Given the description of an element on the screen output the (x, y) to click on. 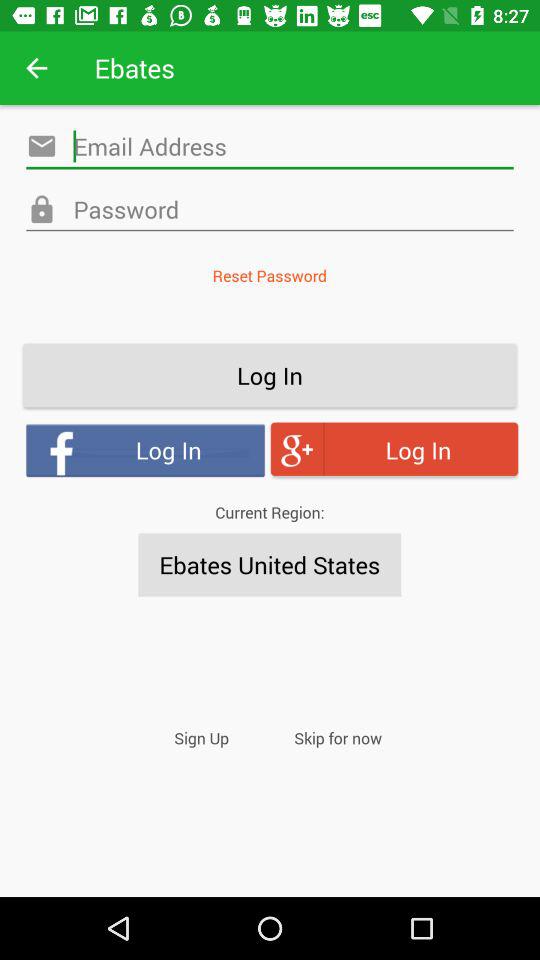
click app next to ebates (36, 68)
